Given the description of an element on the screen output the (x, y) to click on. 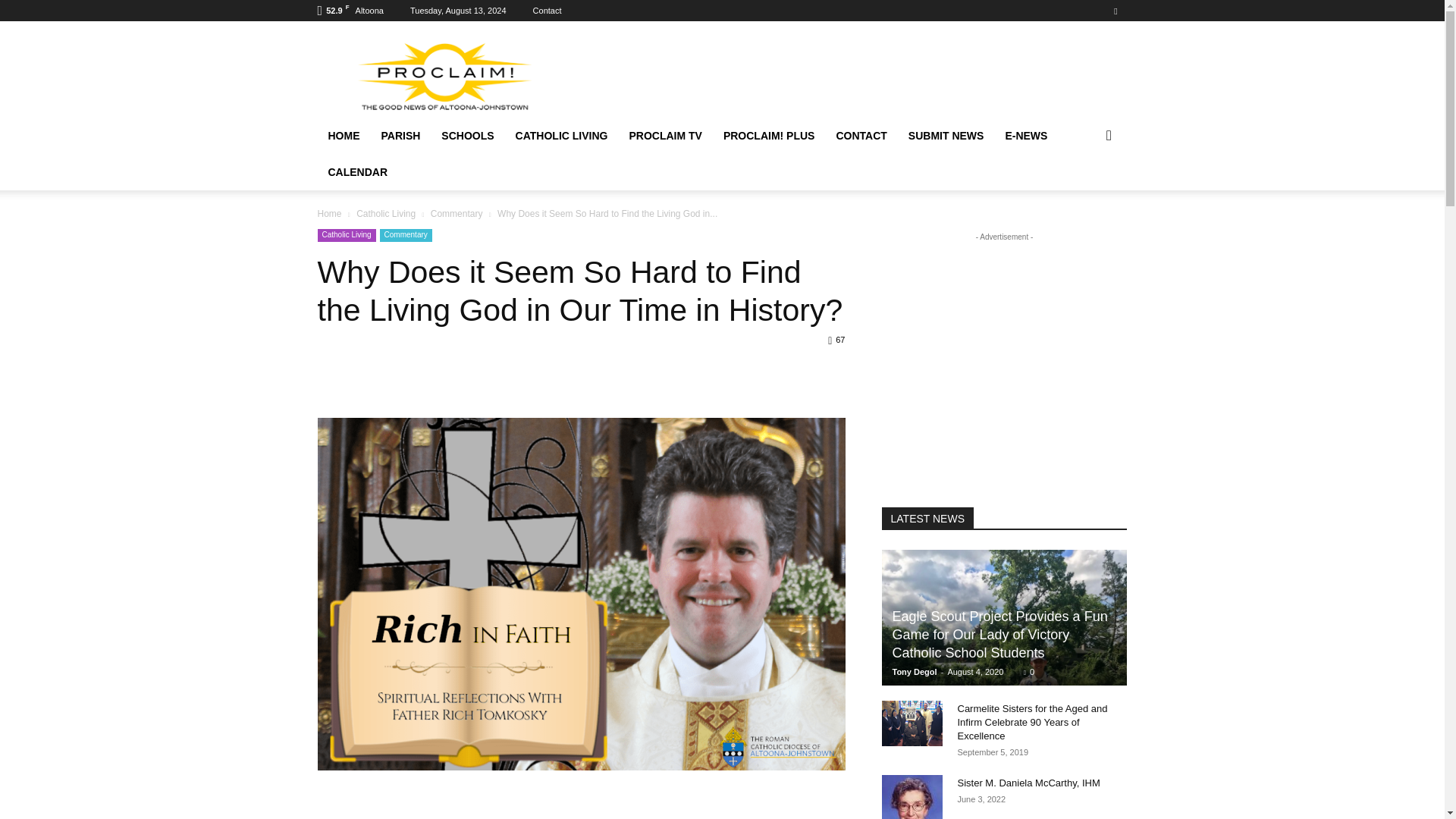
Facebook (1114, 10)
Contact (547, 10)
HOME (343, 135)
